Given the description of an element on the screen output the (x, y) to click on. 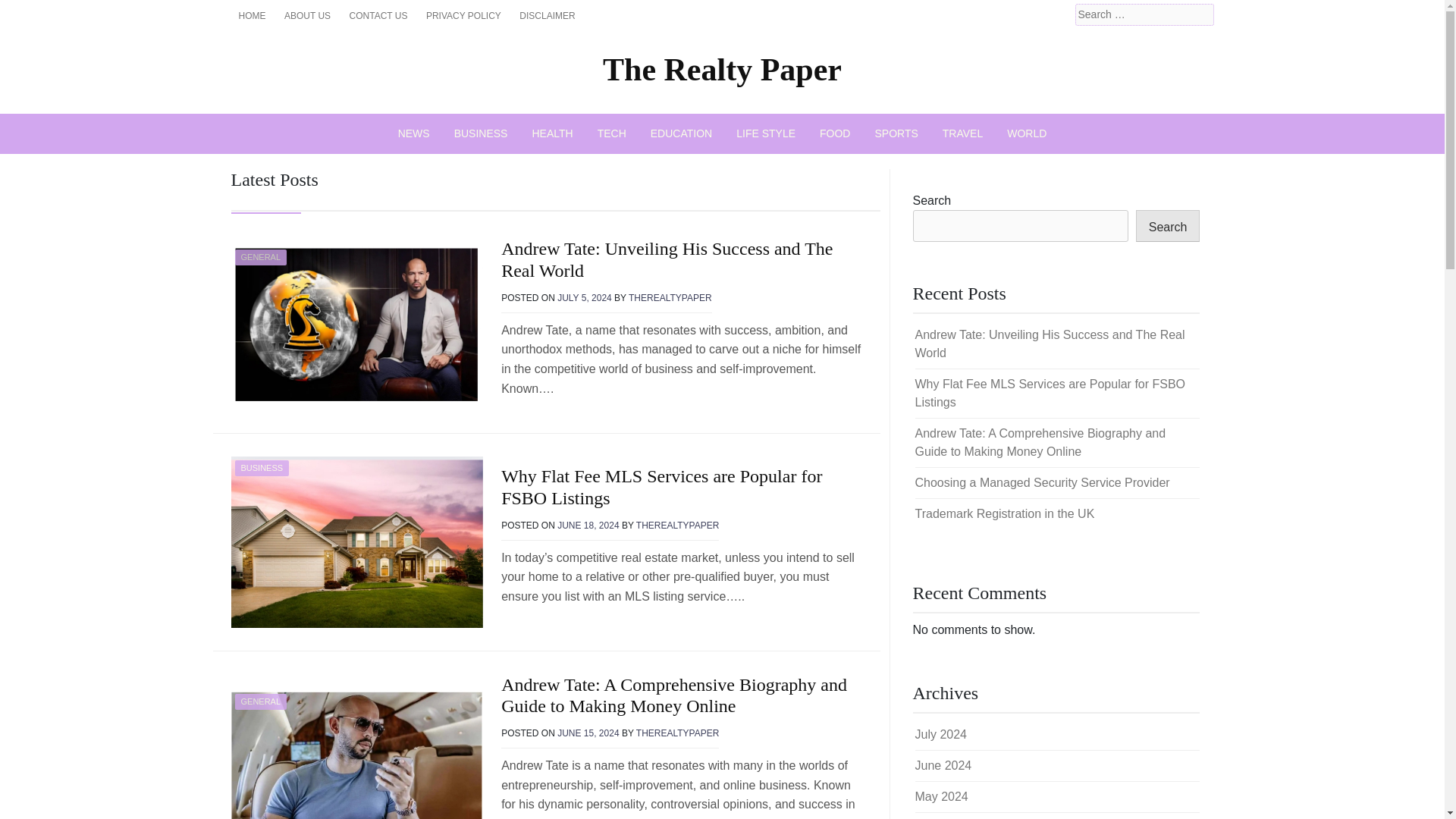
GENERAL (260, 701)
The Realty Paper (721, 69)
THEREALTYPAPER (677, 525)
ABOUT US (306, 15)
GENERAL (260, 256)
JUNE 18, 2024 (587, 525)
DISCLAIMER (547, 15)
JUNE 15, 2024 (587, 733)
HOME (251, 15)
